Given the description of an element on the screen output the (x, y) to click on. 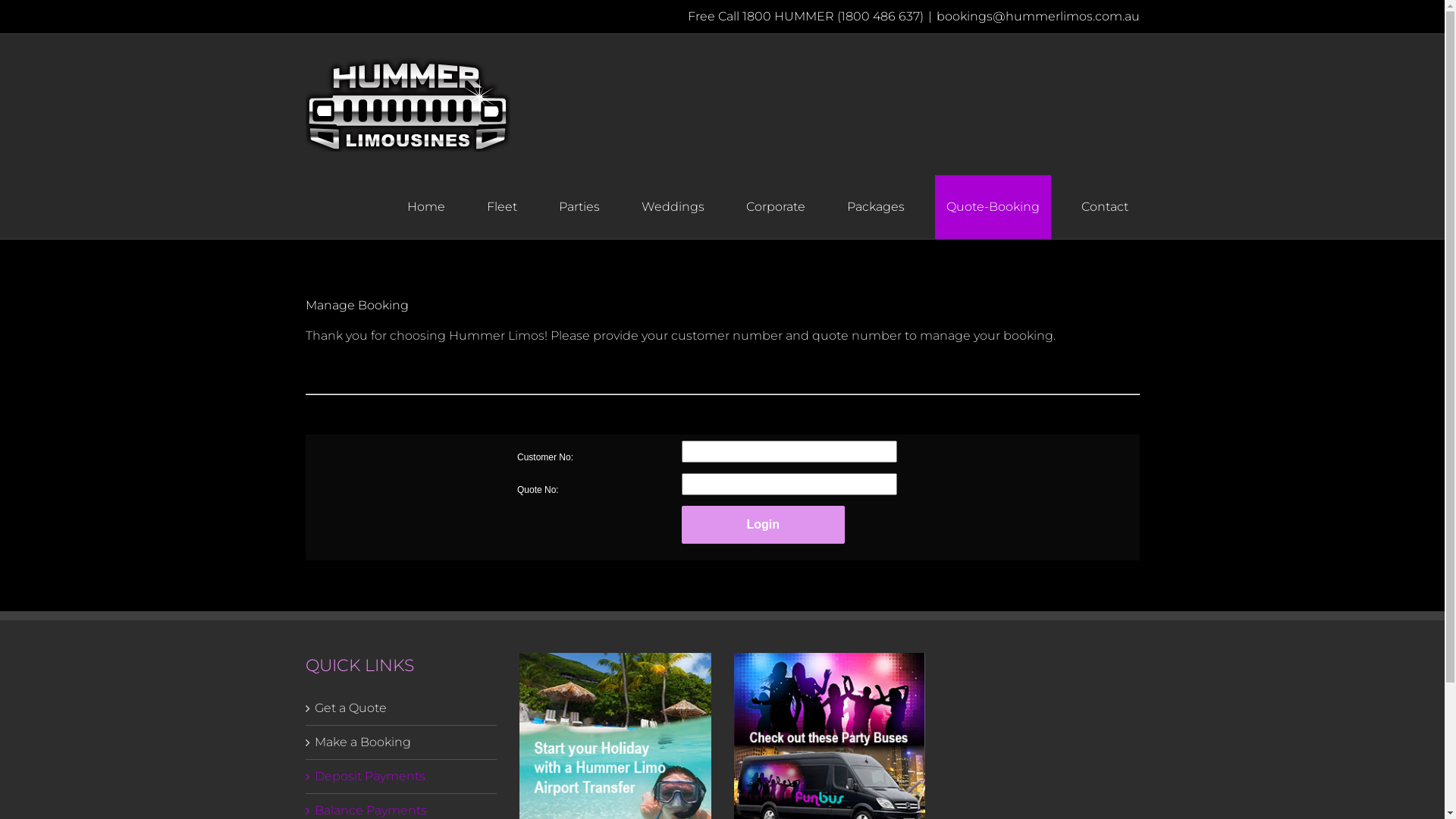
Deposit Payments Element type: text (401, 776)
Weddings Element type: text (672, 206)
bookings@hummerlimos.com.au Element type: text (1037, 16)
Contact Element type: text (1104, 206)
Parties Element type: text (579, 206)
Get a Quote Element type: text (401, 708)
Home Element type: text (425, 206)
Quote-Booking Element type: text (992, 206)
Fleet Element type: text (500, 206)
Make a Booking Element type: text (401, 742)
Packages Element type: text (875, 206)
Corporate Element type: text (774, 206)
